Given the description of an element on the screen output the (x, y) to click on. 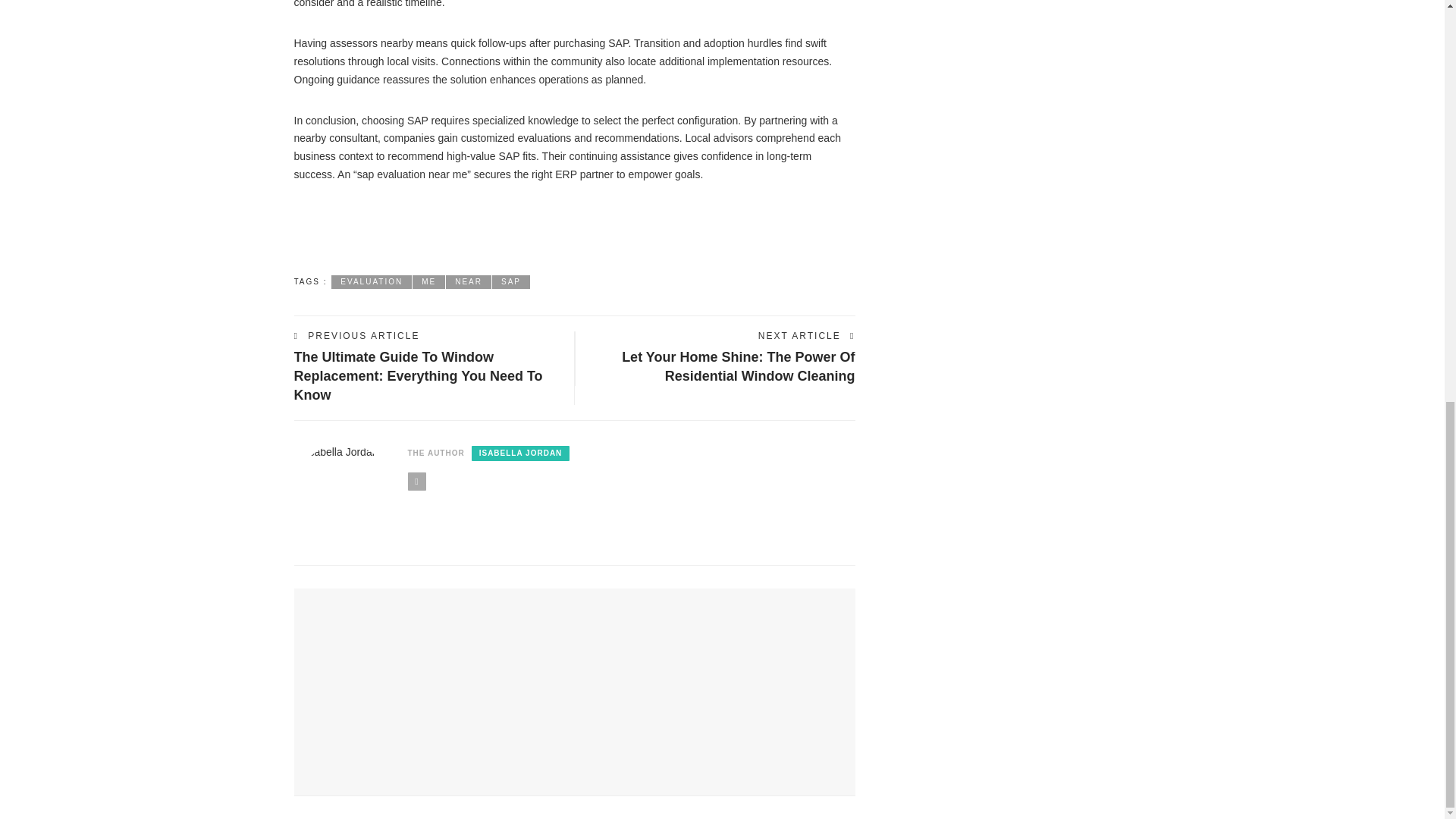
ISABELLA JORDAN (520, 453)
NEAR (468, 282)
SAP (510, 282)
ME (428, 282)
EVALUATION (371, 282)
Understanding Egg Freezing: A Comprehensive Guide (430, 655)
